Given the description of an element on the screen output the (x, y) to click on. 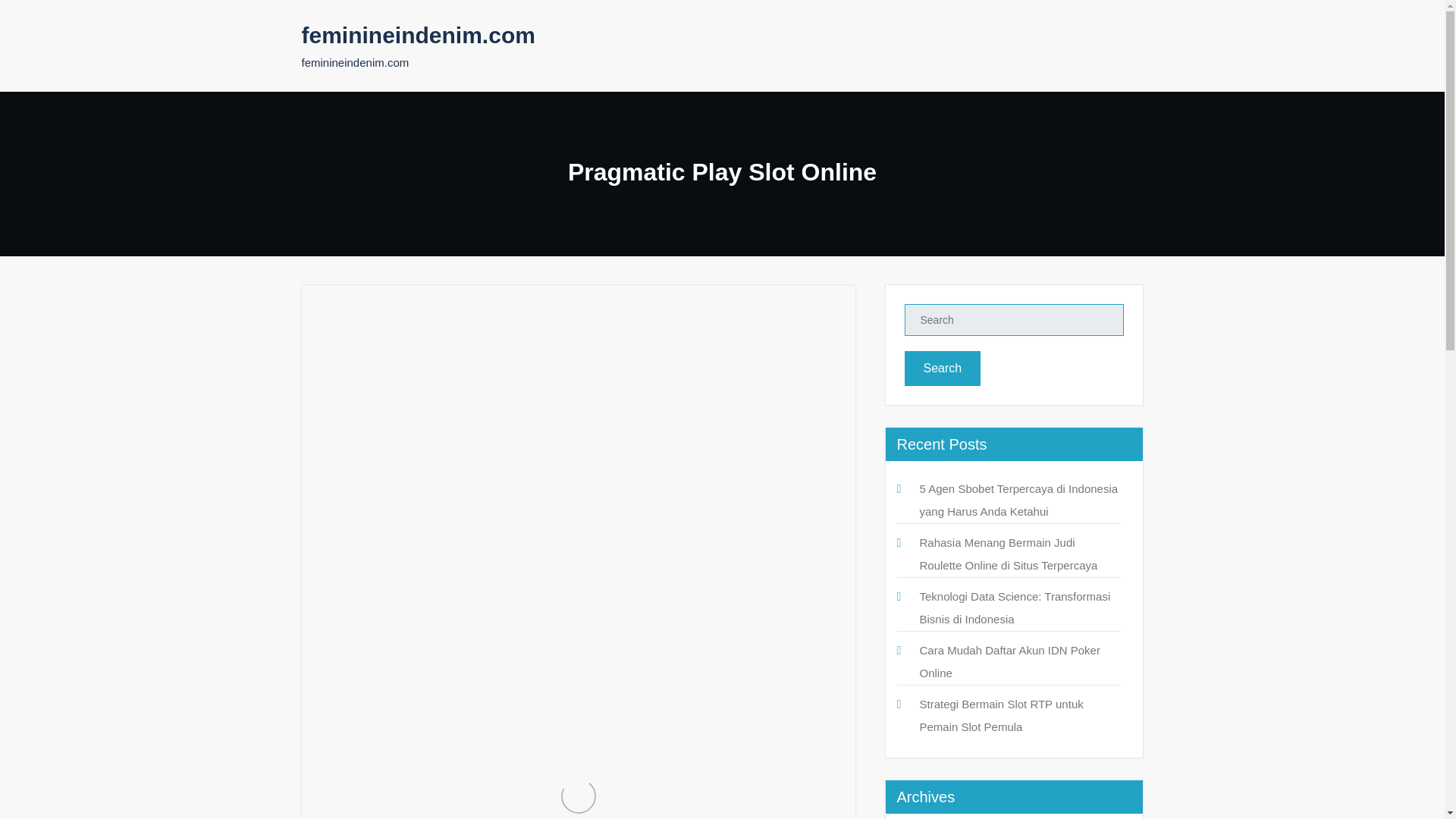
Cara Mudah Daftar Akun IDN Poker Online (1008, 661)
Teknologi Data Science: Transformasi Bisnis di Indonesia (1013, 607)
Gambling (475, 358)
Search (941, 368)
feminineindenim (379, 358)
Strategi Bermain Slot RTP untuk Pemain Slot Pemula (1000, 715)
feminineindenim.com (418, 34)
